Given the description of an element on the screen output the (x, y) to click on. 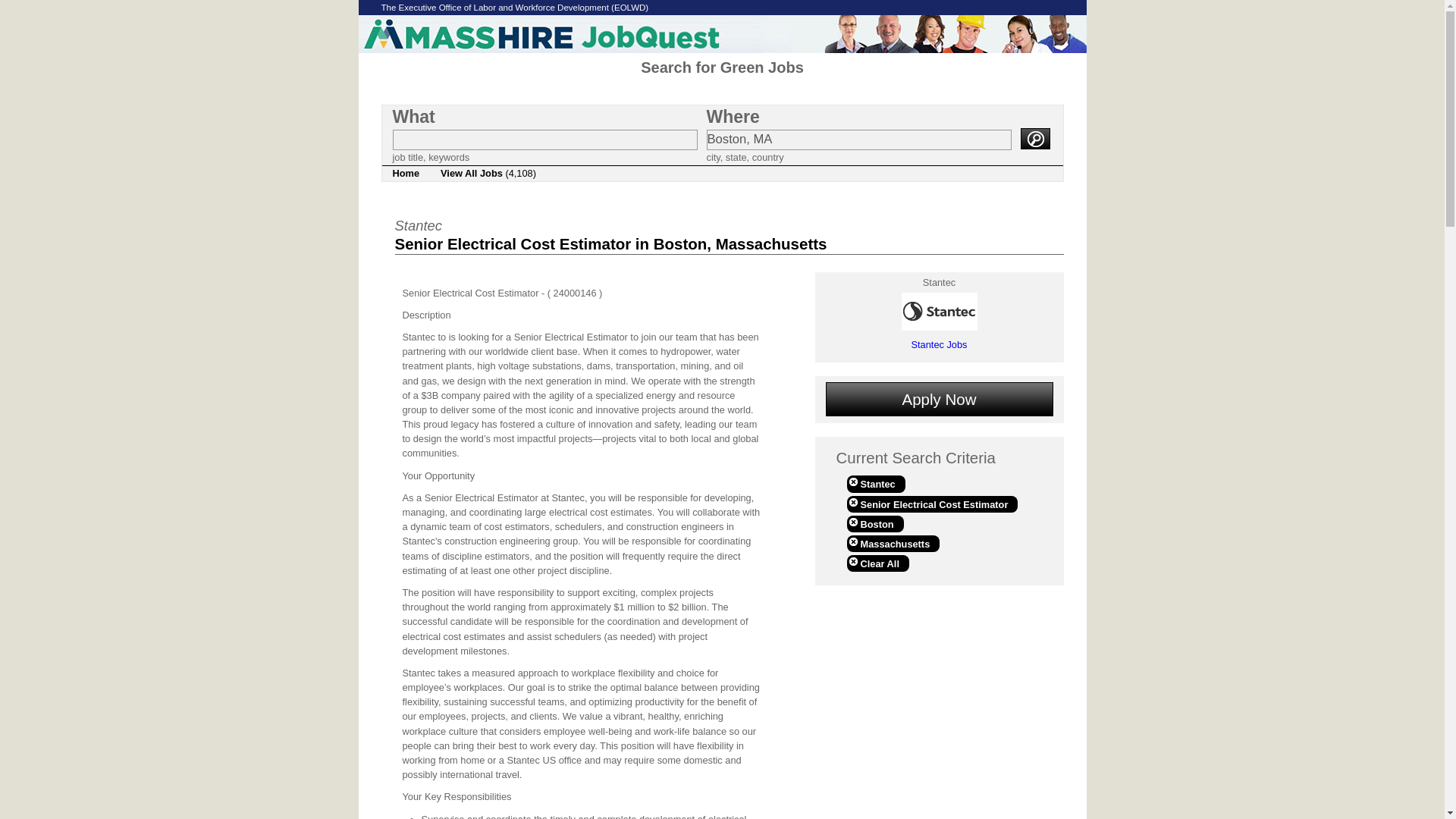
Stantec (874, 483)
Apply Now (938, 399)
Remove Massachusetts (892, 543)
Clear All (876, 563)
Home (405, 173)
Stantec Jobs (939, 344)
Boston, MA (858, 139)
Submit Search (1034, 138)
Remove Senior Electrical Cost Estimator (931, 504)
Remove Stantec (874, 483)
